Given the description of an element on the screen output the (x, y) to click on. 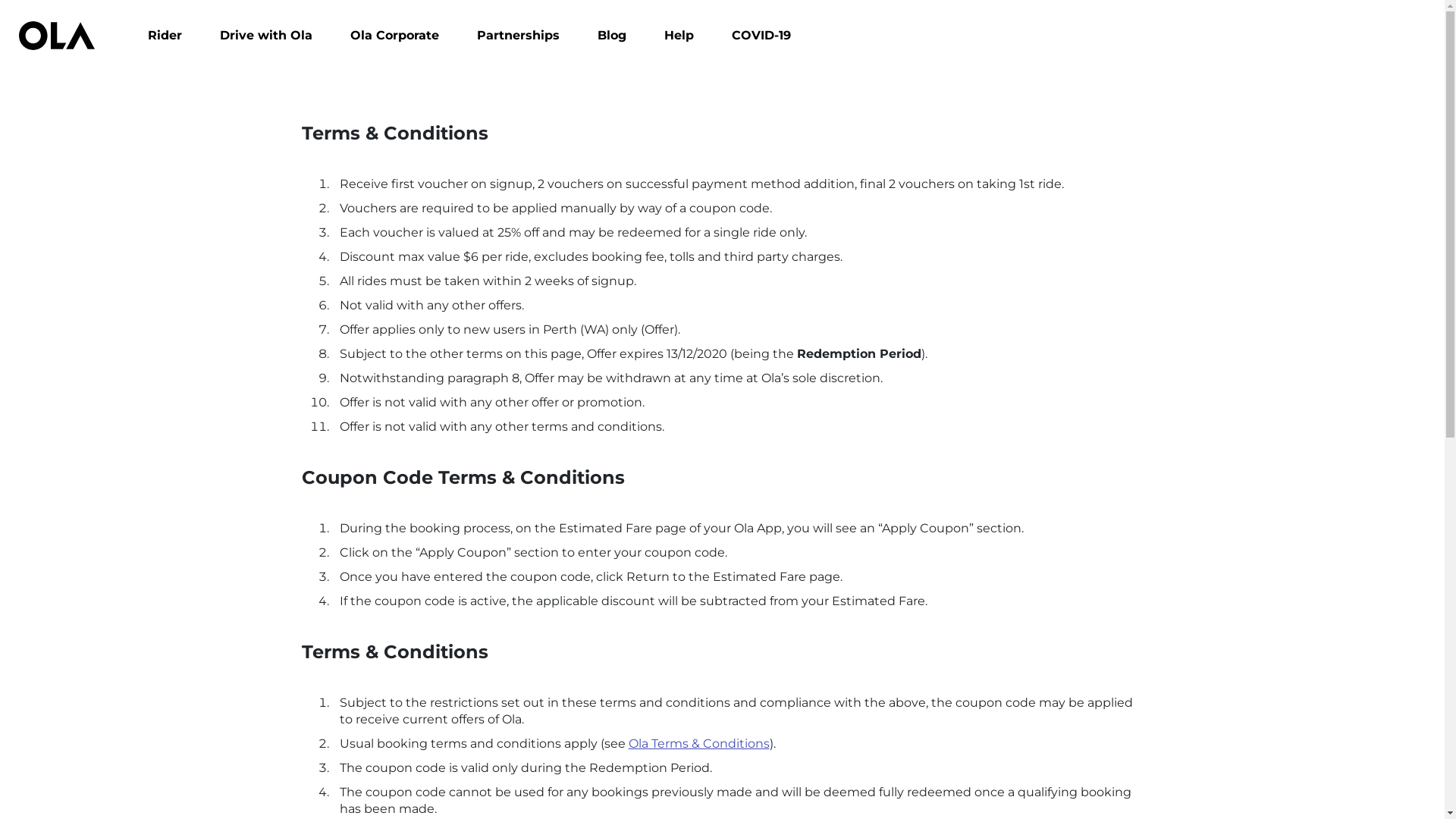
Help Element type: text (678, 35)
Rider Element type: text (164, 35)
Partnerships Element type: text (518, 35)
Ola Terms & Conditions Element type: text (697, 743)
Blog Element type: text (611, 35)
COVID-19 Element type: text (761, 35)
Ola Corporate Element type: text (394, 35)
Drive with Ola Element type: text (266, 35)
